Given the description of an element on the screen output the (x, y) to click on. 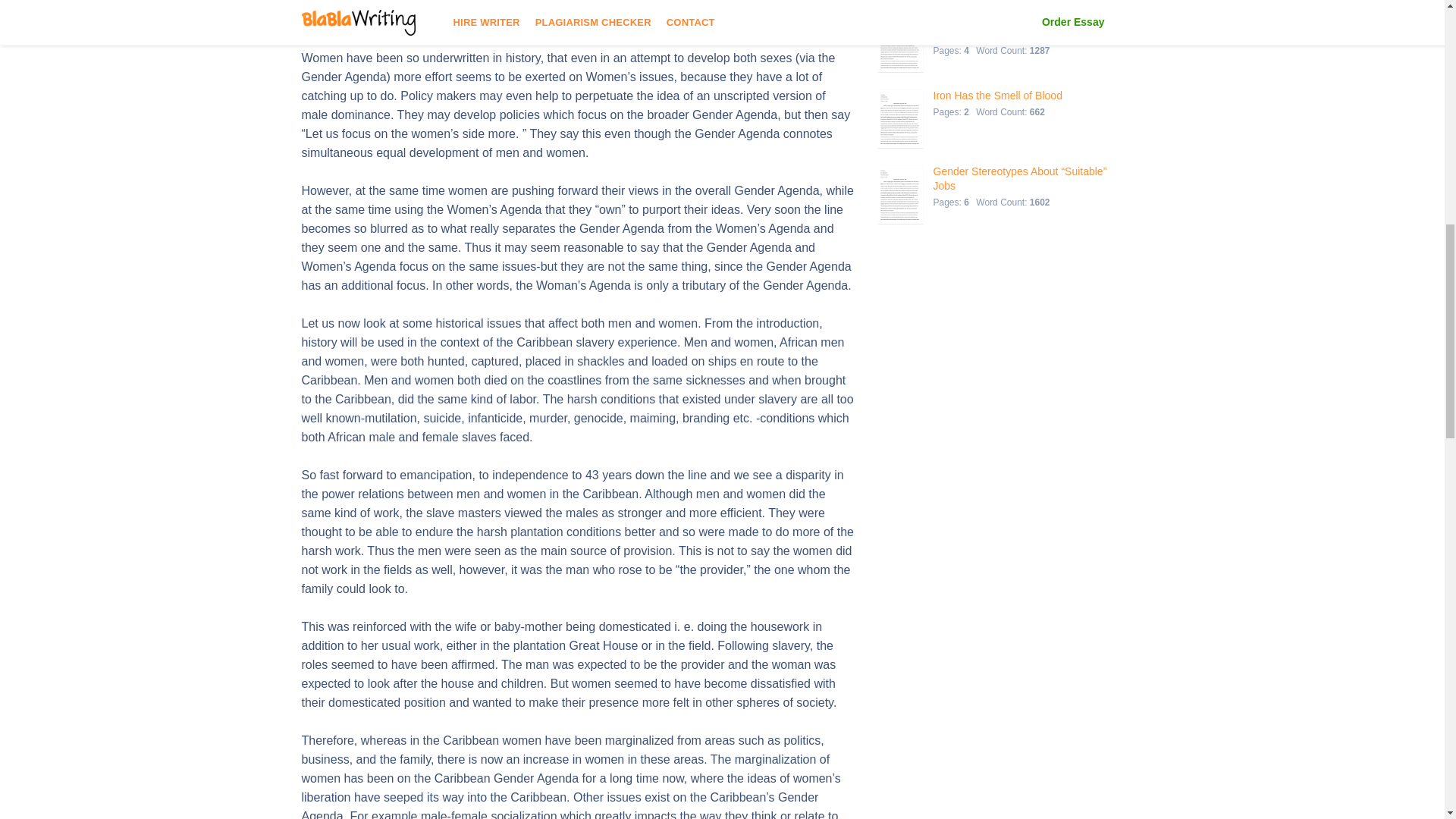
Iron Has the Smell of Blood (997, 95)
